Given the description of an element on the screen output the (x, y) to click on. 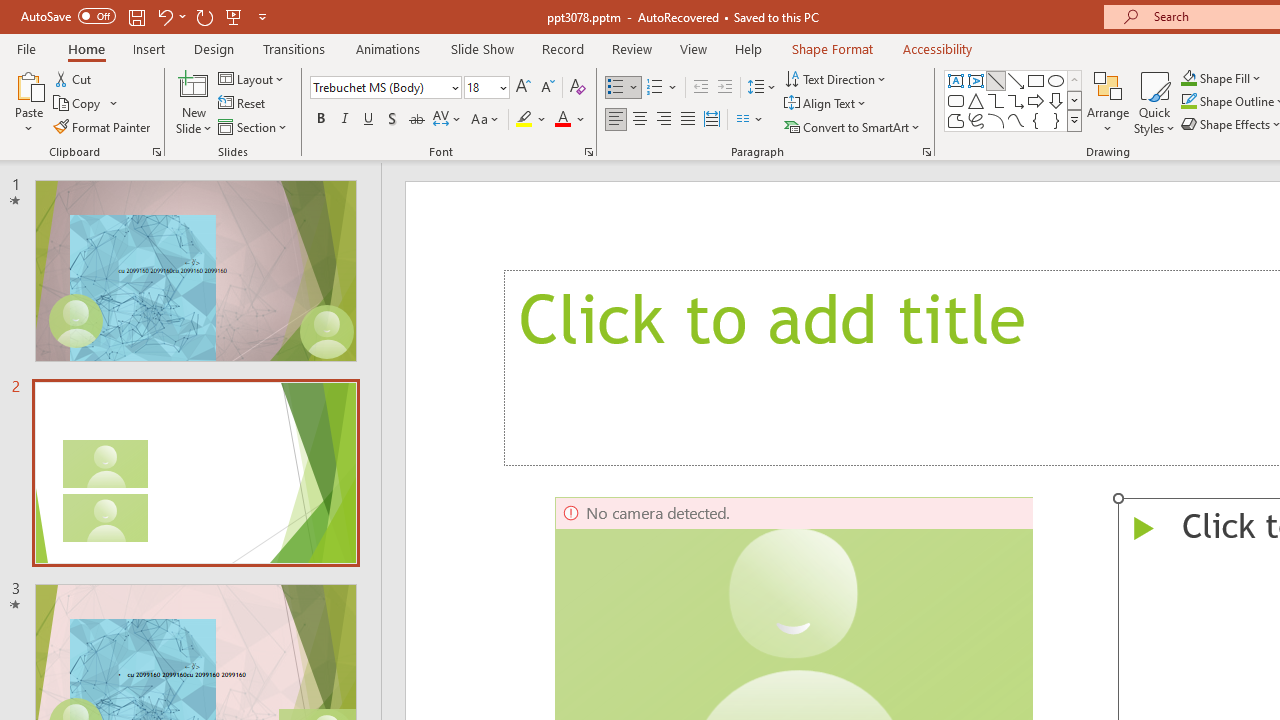
Arrow: Right (1035, 100)
Font... (588, 151)
Freeform: Scribble (975, 120)
Rectangle: Rounded Corners (955, 100)
Paragraph... (926, 151)
Office Clipboard... (156, 151)
Quick Styles (1154, 102)
Section (254, 126)
Line (995, 80)
